Given the description of an element on the screen output the (x, y) to click on. 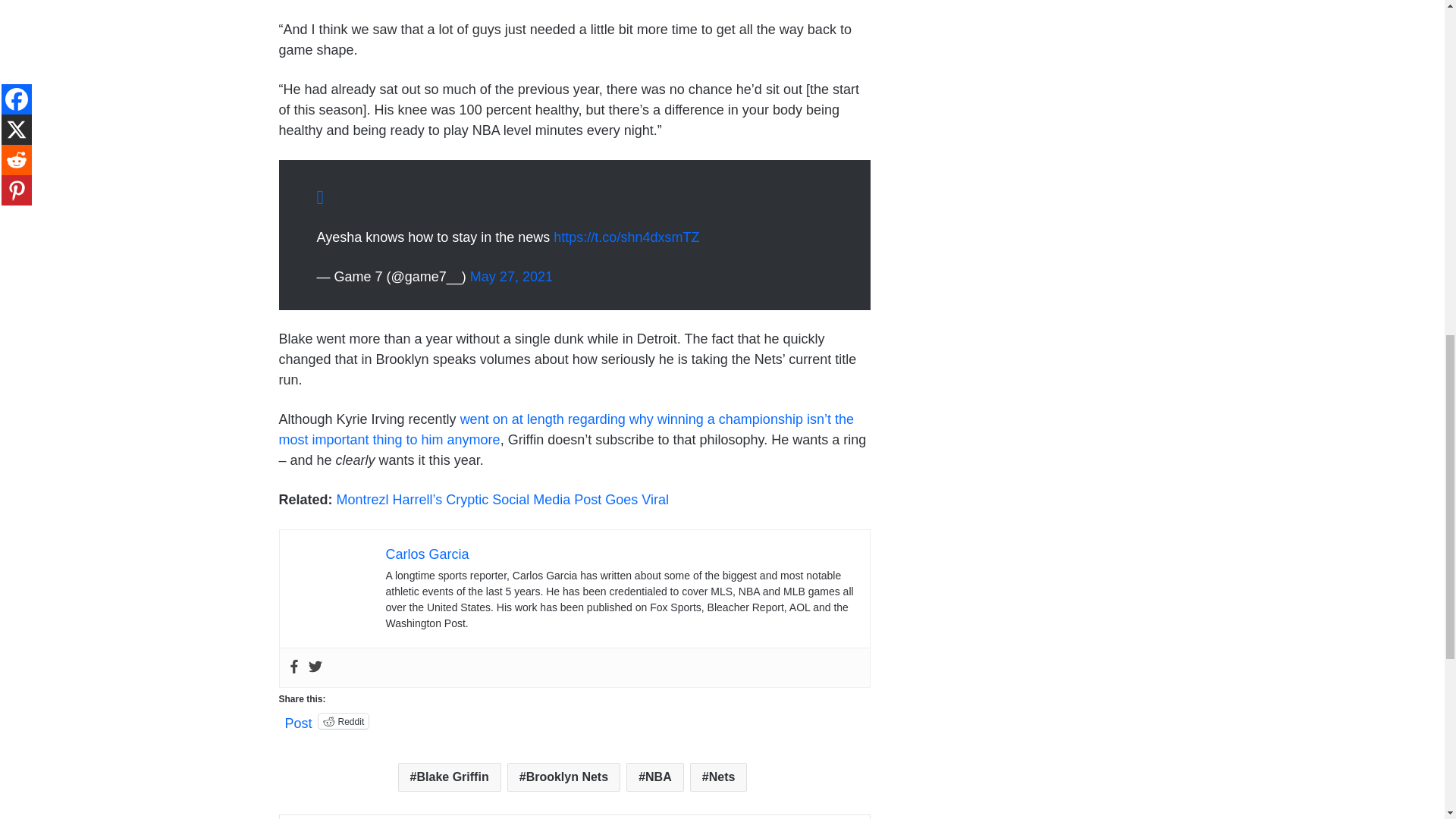
Facebook (292, 667)
Post (299, 720)
May 27, 2021 (511, 276)
Carlos Garcia (426, 554)
Reddit (343, 720)
